Given the description of an element on the screen output the (x, y) to click on. 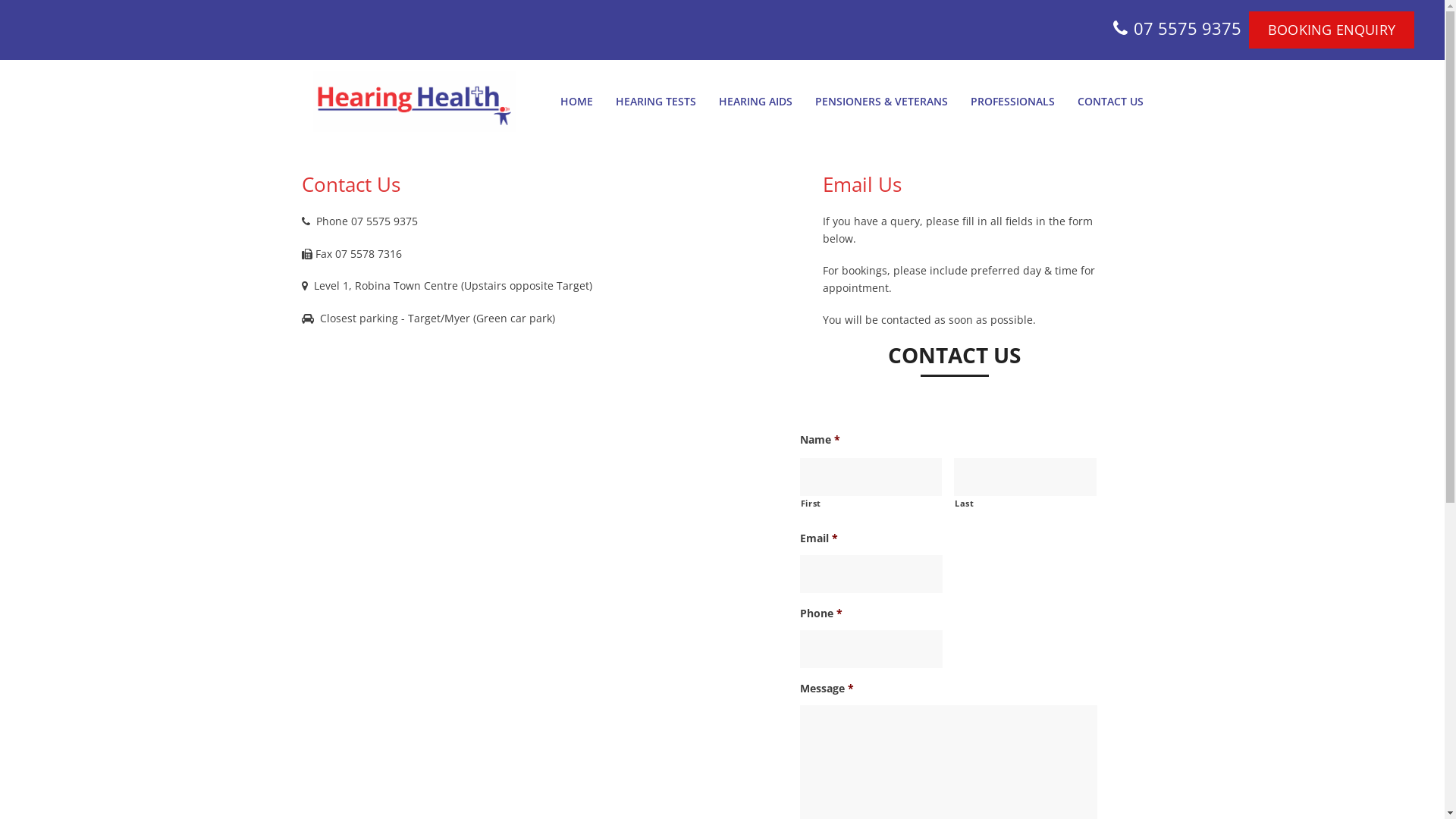
CONTACT US Element type: text (1110, 101)
Hearing Health Element type: hover (397, 100)
HOME Element type: text (576, 101)
BOOKING ENQUIRY Element type: text (1331, 29)
HEARING TESTS Element type: text (654, 101)
PENSIONERS & VETERANS Element type: text (881, 101)
PROFESSIONALS Element type: text (1011, 101)
Skip to content Element type: text (0, 0)
HEARING AIDS Element type: text (754, 101)
